Given the description of an element on the screen output the (x, y) to click on. 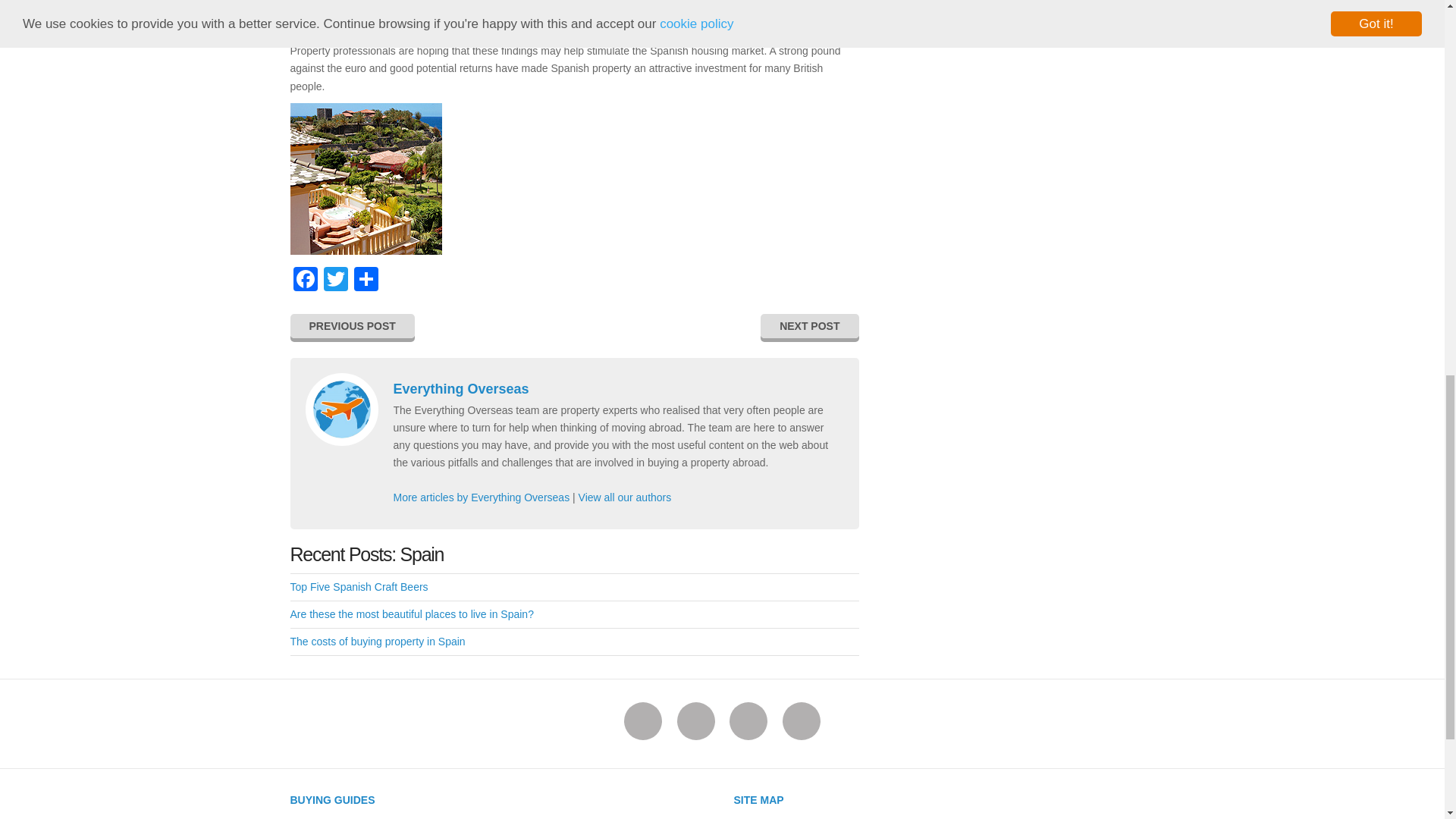
Facebook (304, 280)
Twitter (335, 280)
Facebook (304, 280)
Everything Overseas (460, 388)
Twitter (335, 280)
PREVIOUS POST (351, 325)
Share (365, 280)
NEXT POST (809, 325)
